Given the description of an element on the screen output the (x, y) to click on. 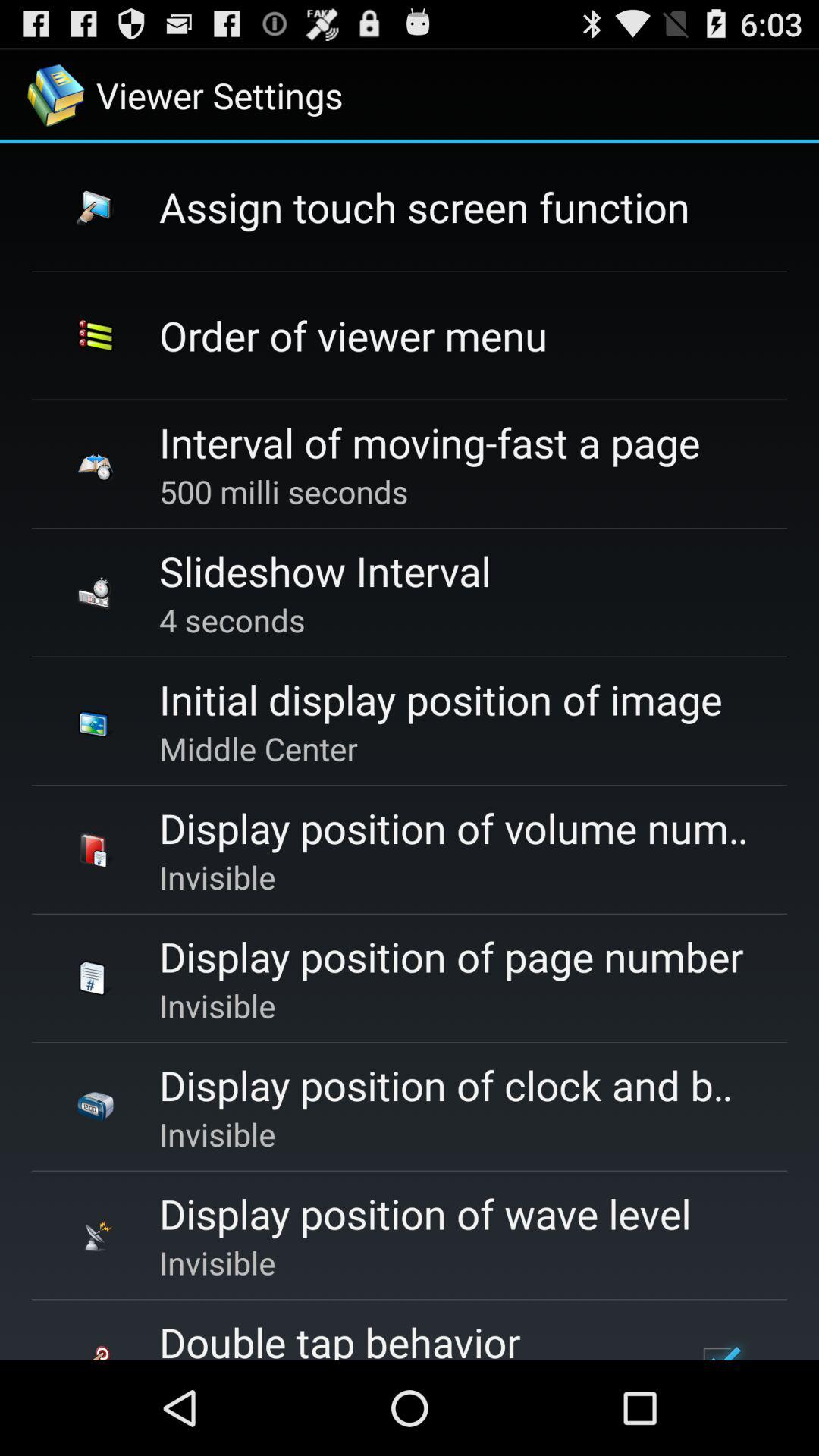
click on the book icon (95, 850)
click on second icon of the viewer settings (95, 336)
click on icon in second option from bottom (95, 1235)
select the image beside display position of page number (95, 978)
select the icon which is left side of interval of movingfast a page (95, 464)
